Given the description of an element on the screen output the (x, y) to click on. 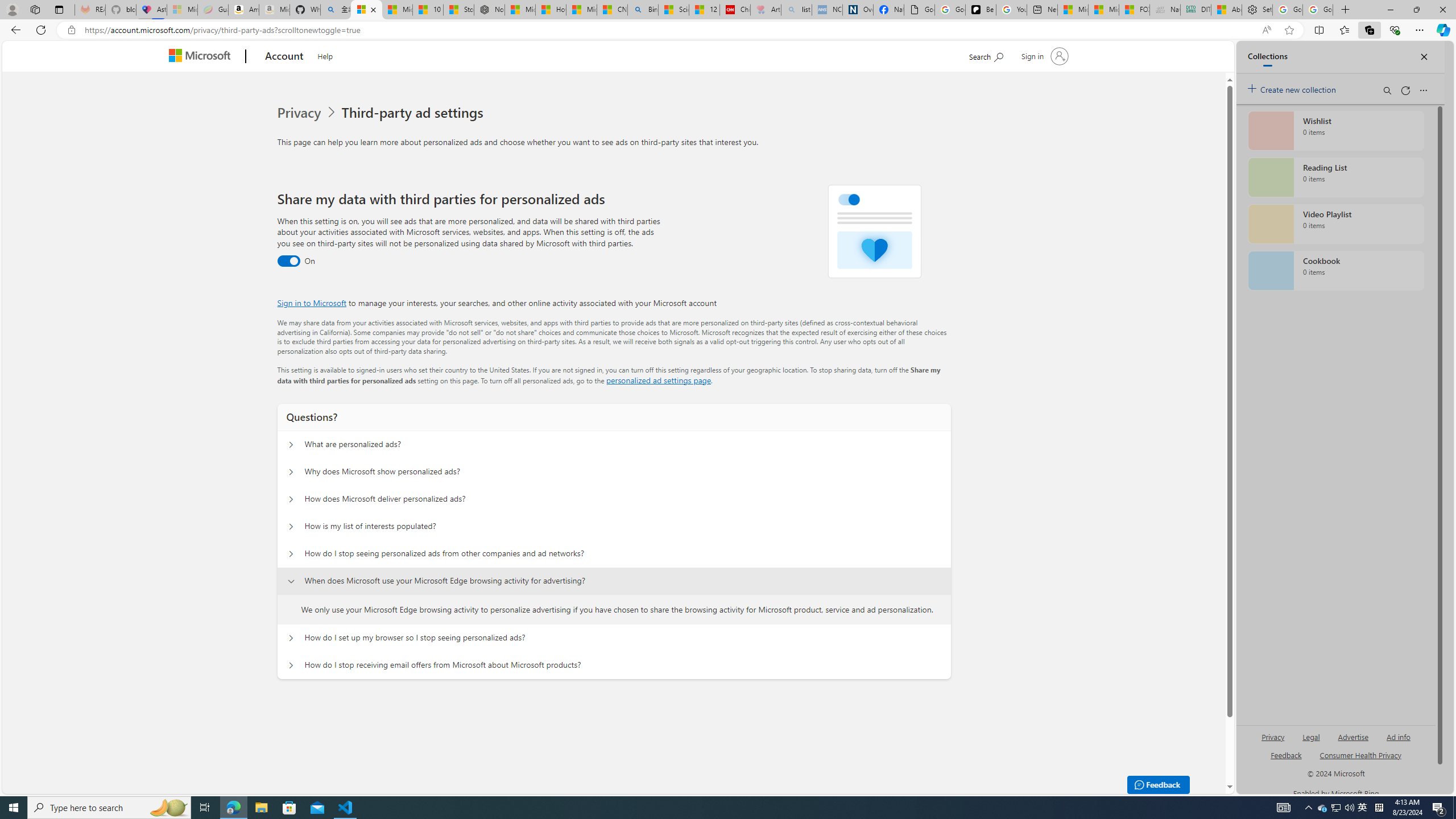
Questions? What are personalized ads? (290, 444)
